Given the description of an element on the screen output the (x, y) to click on. 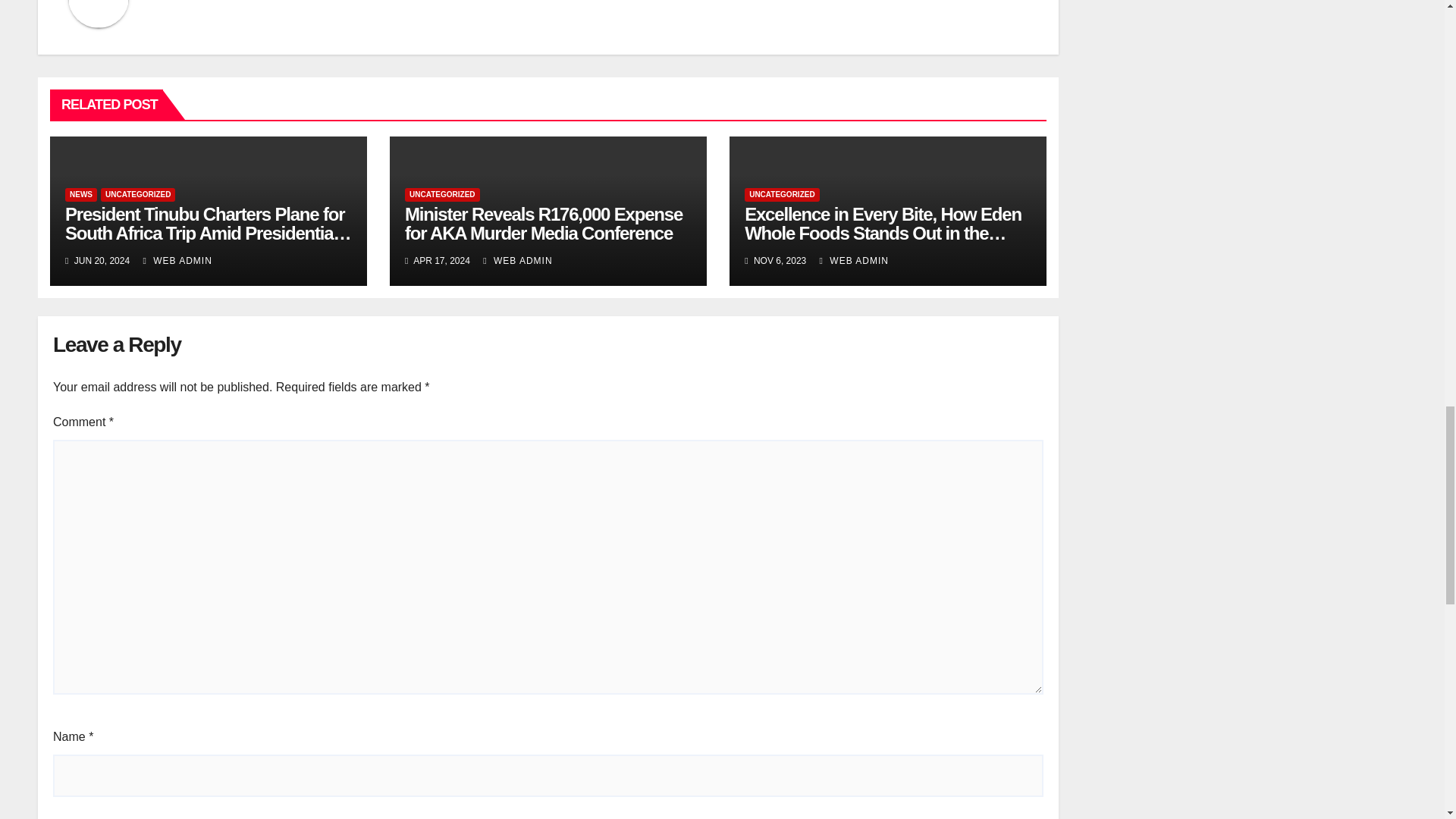
UNCATEGORIZED (441, 194)
UNCATEGORIZED (781, 194)
UNCATEGORIZED (137, 194)
WEB ADMIN (517, 260)
NEWS (81, 194)
WEB ADMIN (176, 260)
WEB ADMIN (853, 260)
